Given the description of an element on the screen output the (x, y) to click on. 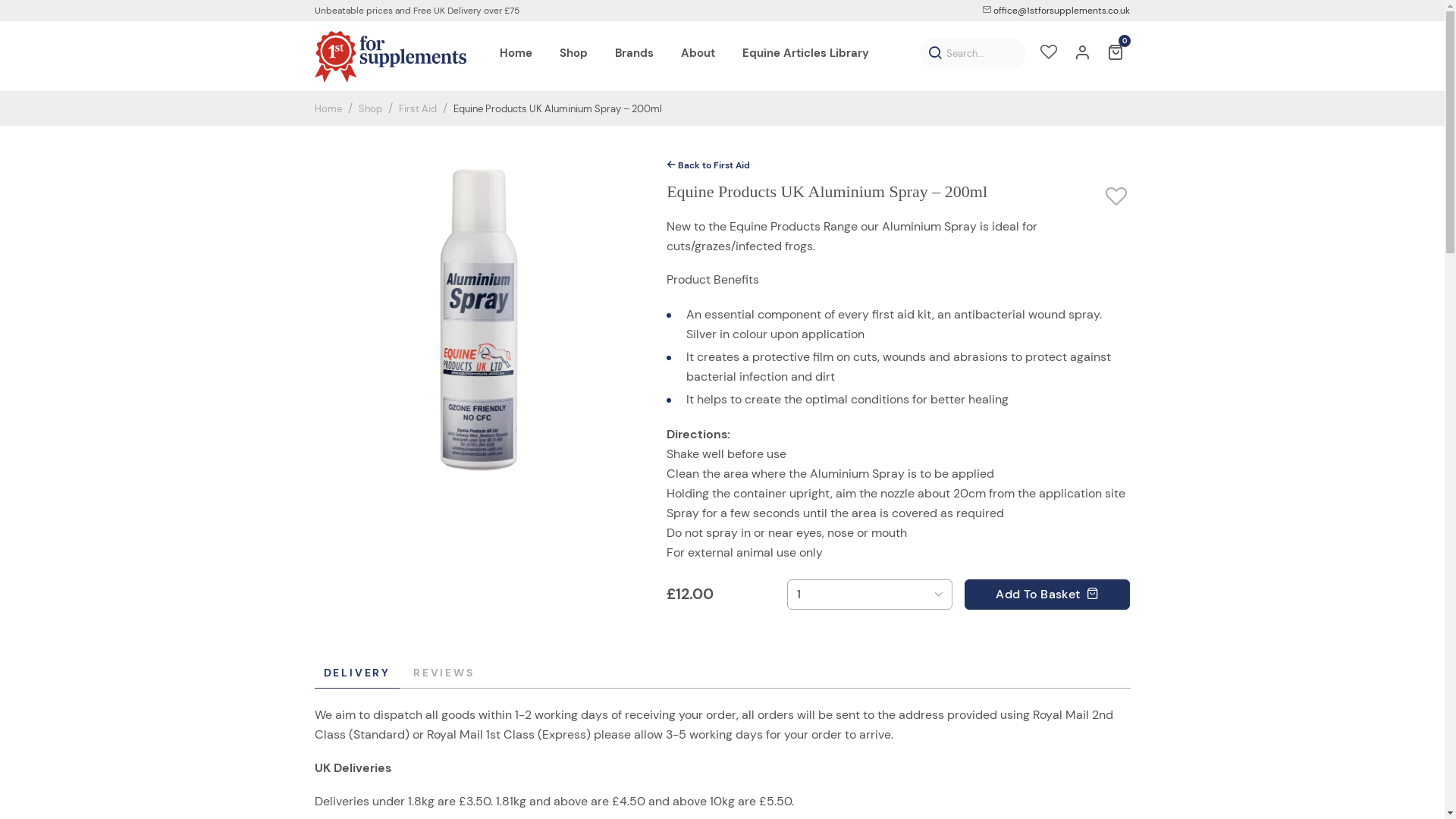
Account Element type: hover (1081, 53)
office@1stforsupplements.co.uk Element type: text (1055, 10)
Wishlist Element type: hover (1047, 53)
Shop Element type: text (573, 53)
REVIEWS Element type: text (443, 672)
Equine Articles Library Element type: text (804, 53)
First Aid Element type: text (417, 107)
Shop Element type: text (369, 107)
0 Element type: text (1114, 53)
About Element type: text (697, 53)
DELIVERY Element type: text (355, 672)
submit Element type: text (933, 52)
Add To Basket   Element type: text (1046, 594)
Home Element type: text (327, 107)
Brands Element type: text (633, 53)
Home Element type: text (514, 53)
1st For Supplements Element type: hover (389, 56)
Back to First Aid Element type: text (707, 165)
